Given the description of an element on the screen output the (x, y) to click on. 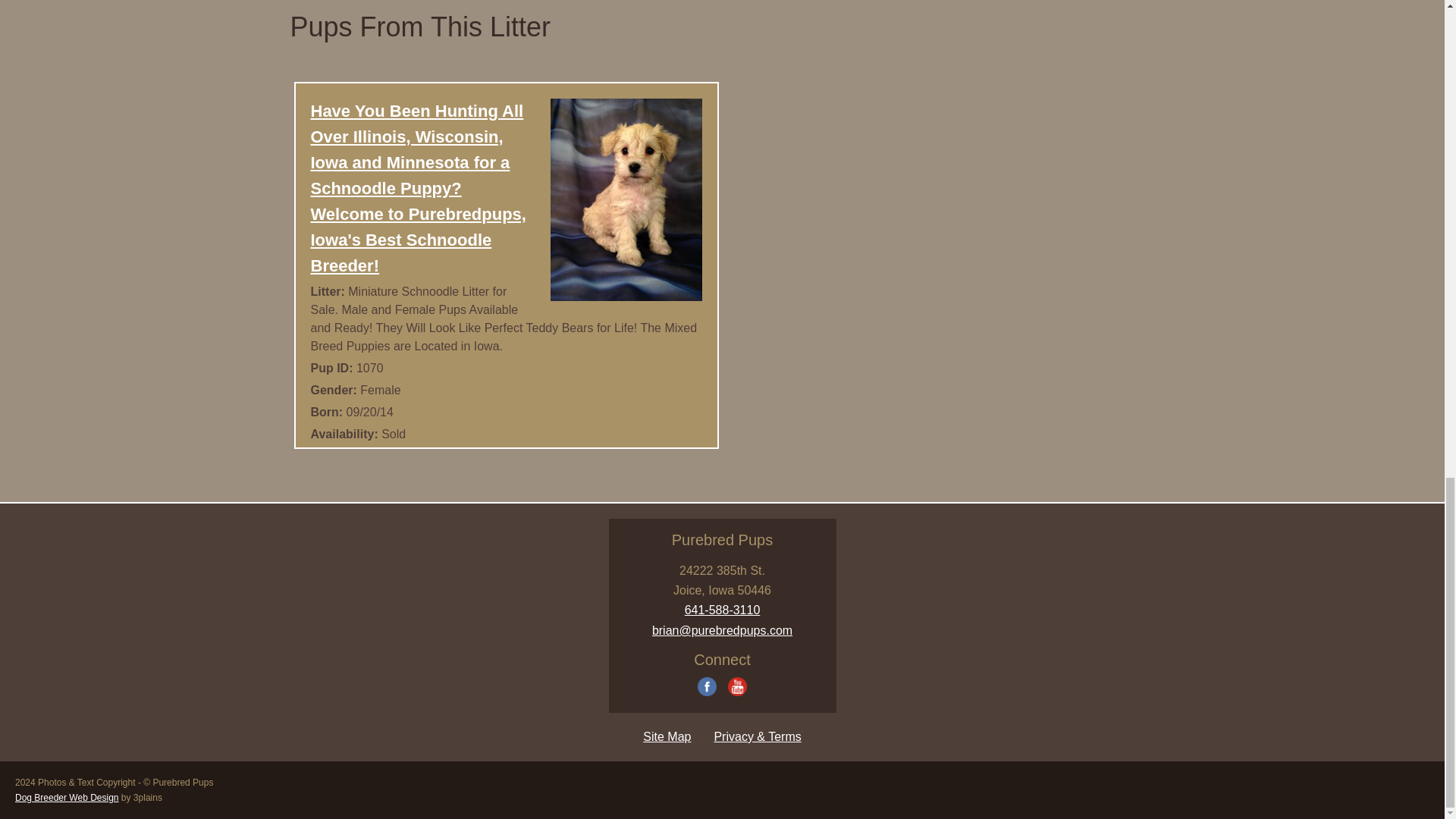
641-588-3110 (722, 610)
641-588-3110 (722, 610)
Dog Breeder Web Design (66, 797)
Site Map (666, 736)
